Given the description of an element on the screen output the (x, y) to click on. 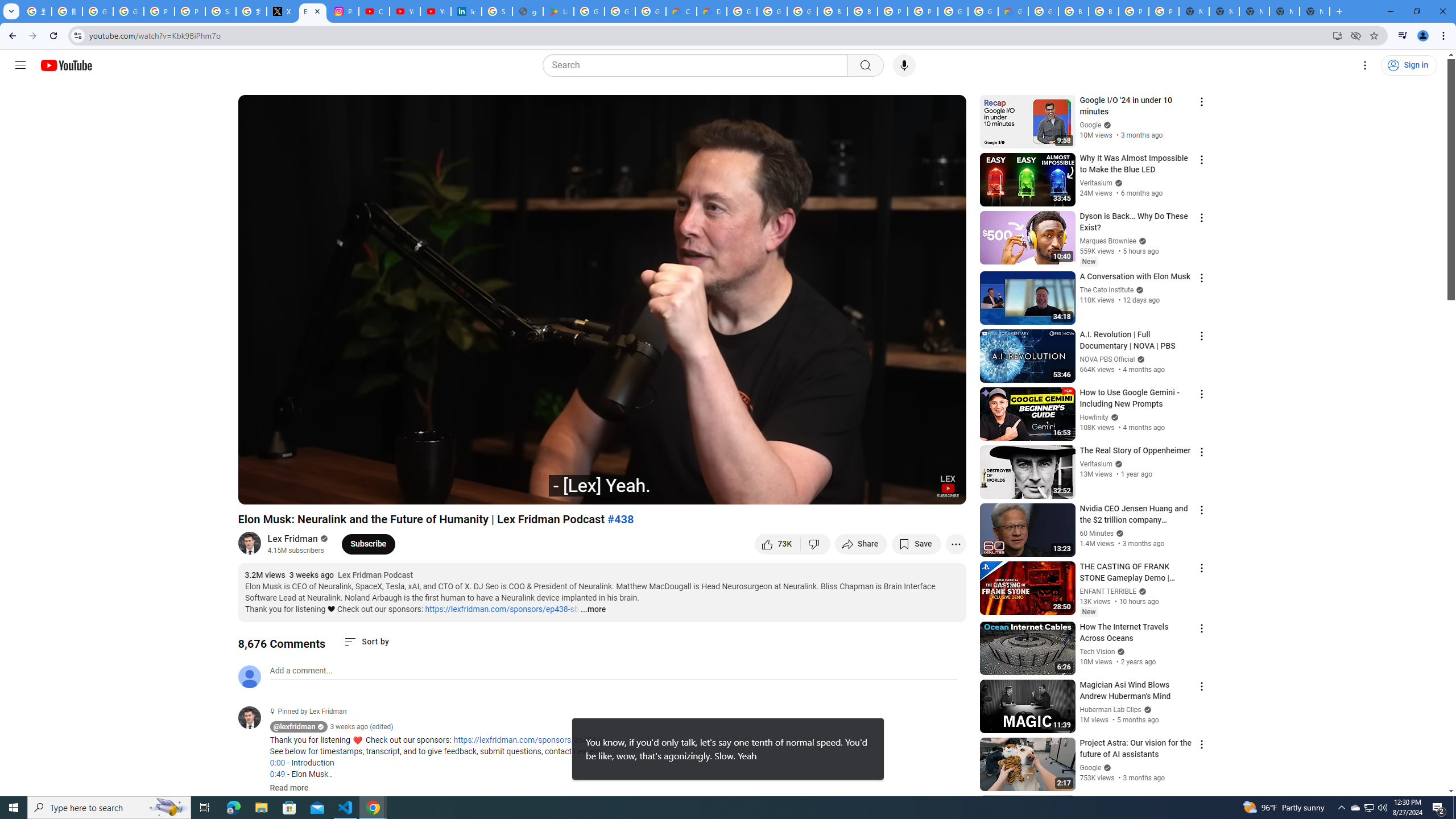
#438 (620, 519)
Default profile photo (248, 676)
Lex Fridman Podcast (375, 575)
Action menu (1200, 802)
Mute (m) (312, 490)
Subtitles/closed captions unavailable (836, 490)
Google Cloud Platform (741, 11)
